Given the description of an element on the screen output the (x, y) to click on. 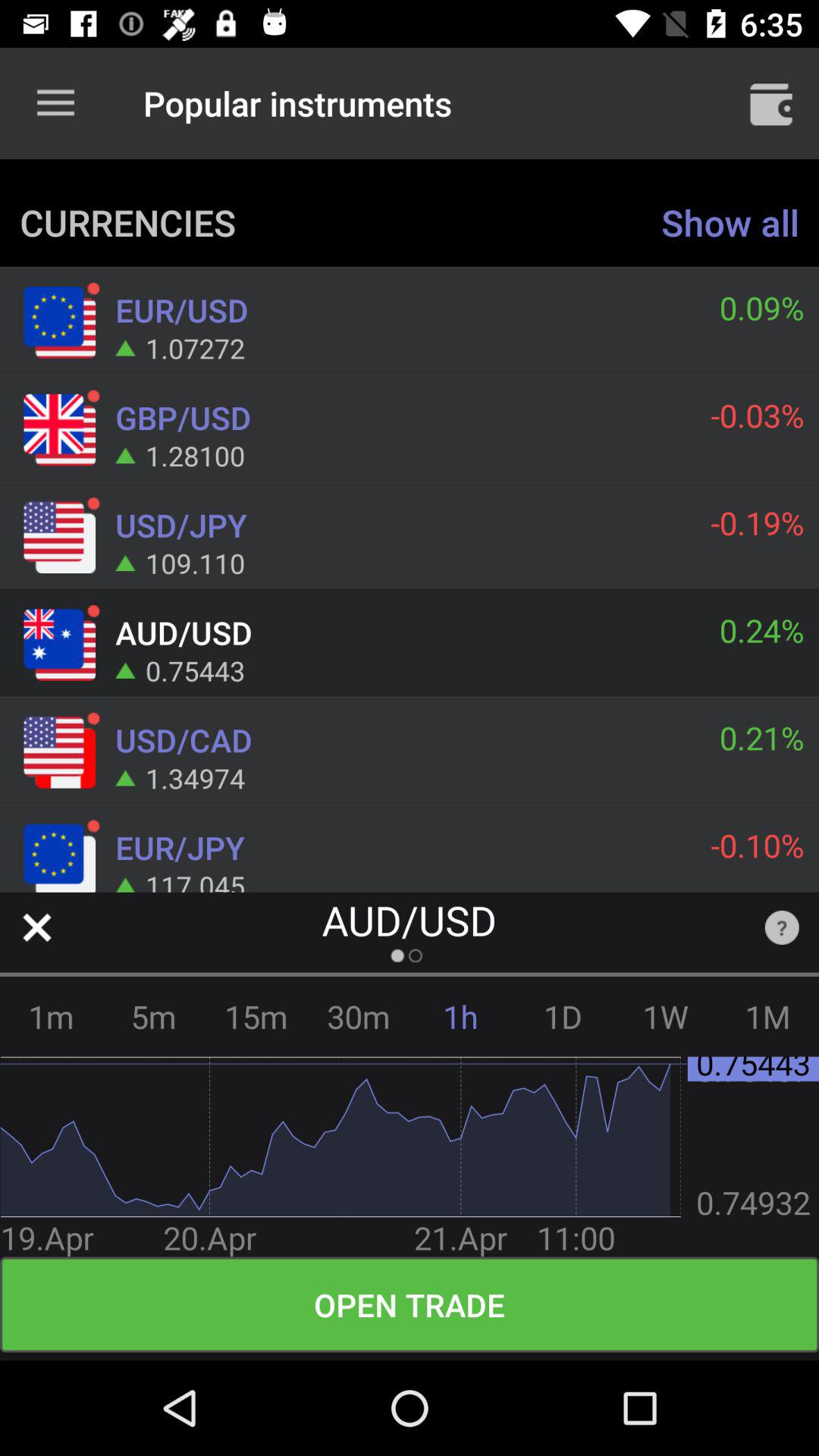
open the open trade icon (409, 1304)
